Given the description of an element on the screen output the (x, y) to click on. 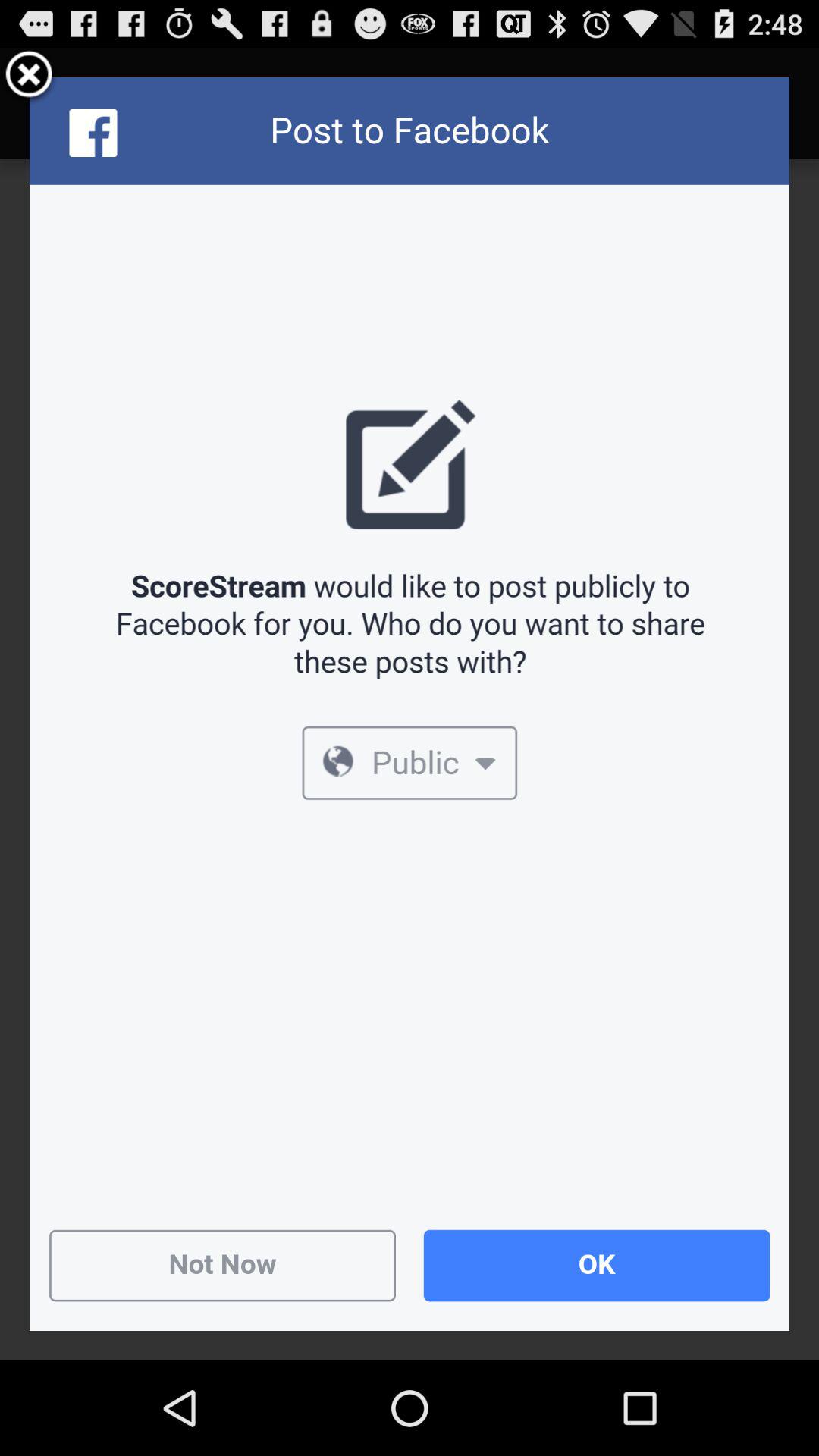
go to close (29, 76)
